Given the description of an element on the screen output the (x, y) to click on. 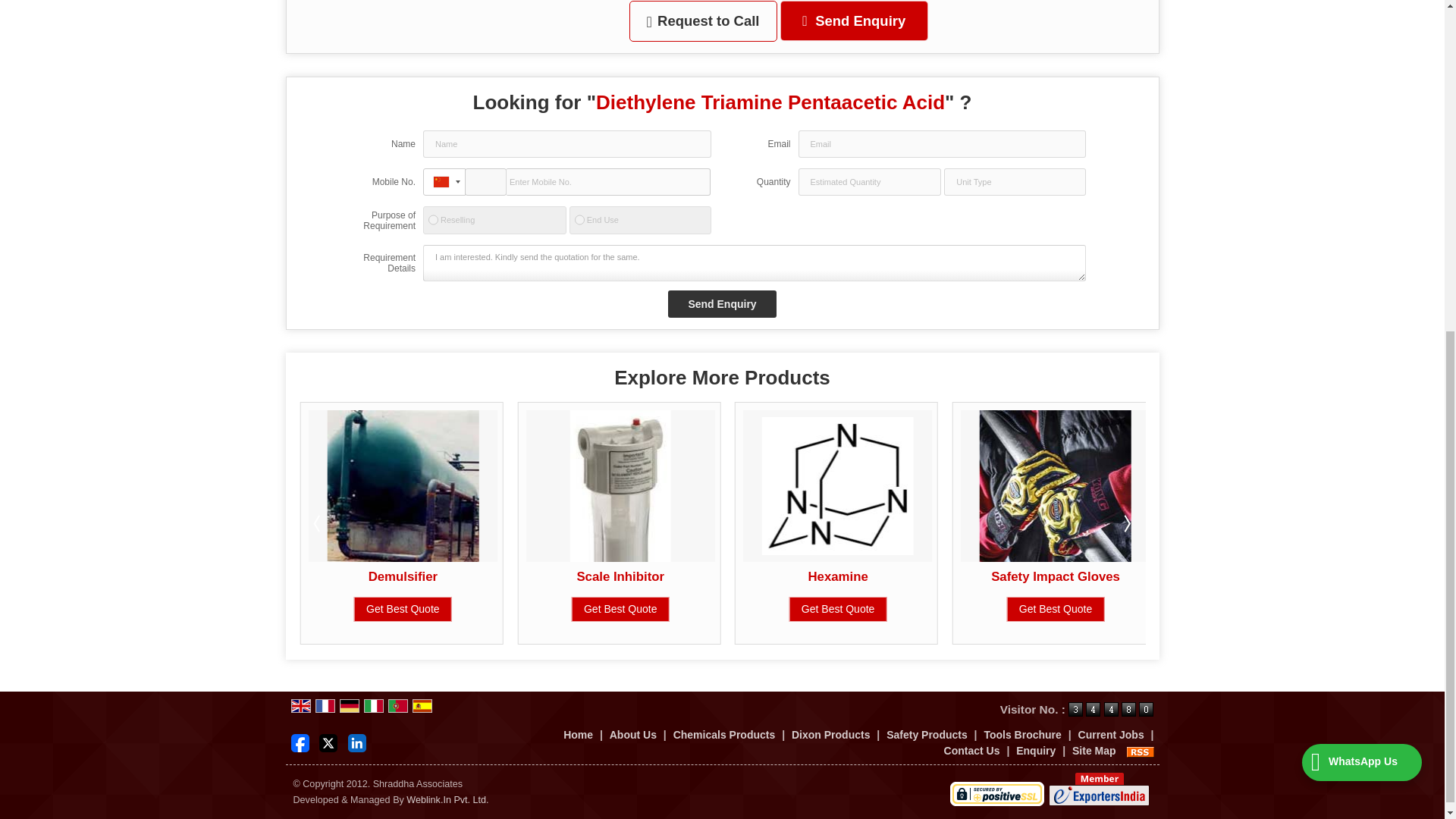
Send Enquiry (722, 303)
